Given the description of an element on the screen output the (x, y) to click on. 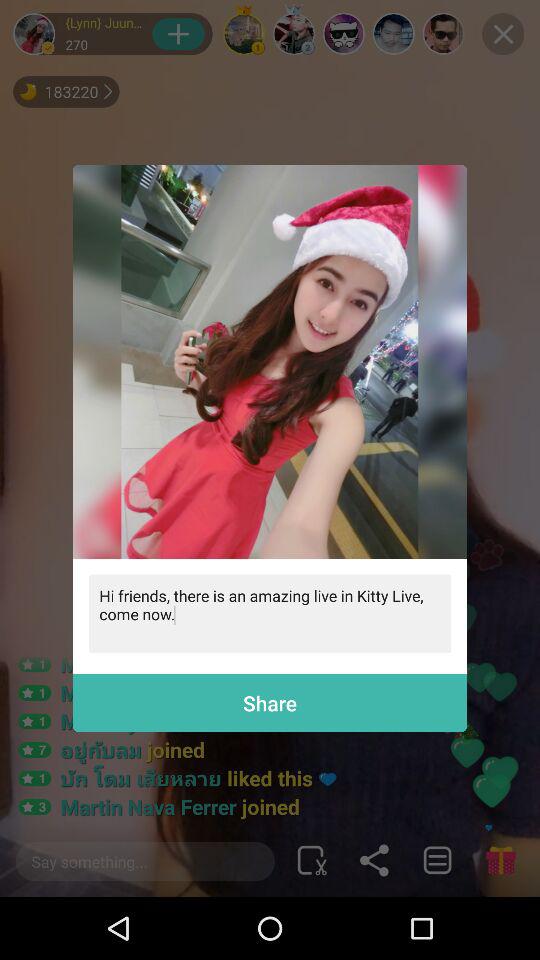
select item above the share icon (269, 613)
